Given the description of an element on the screen output the (x, y) to click on. 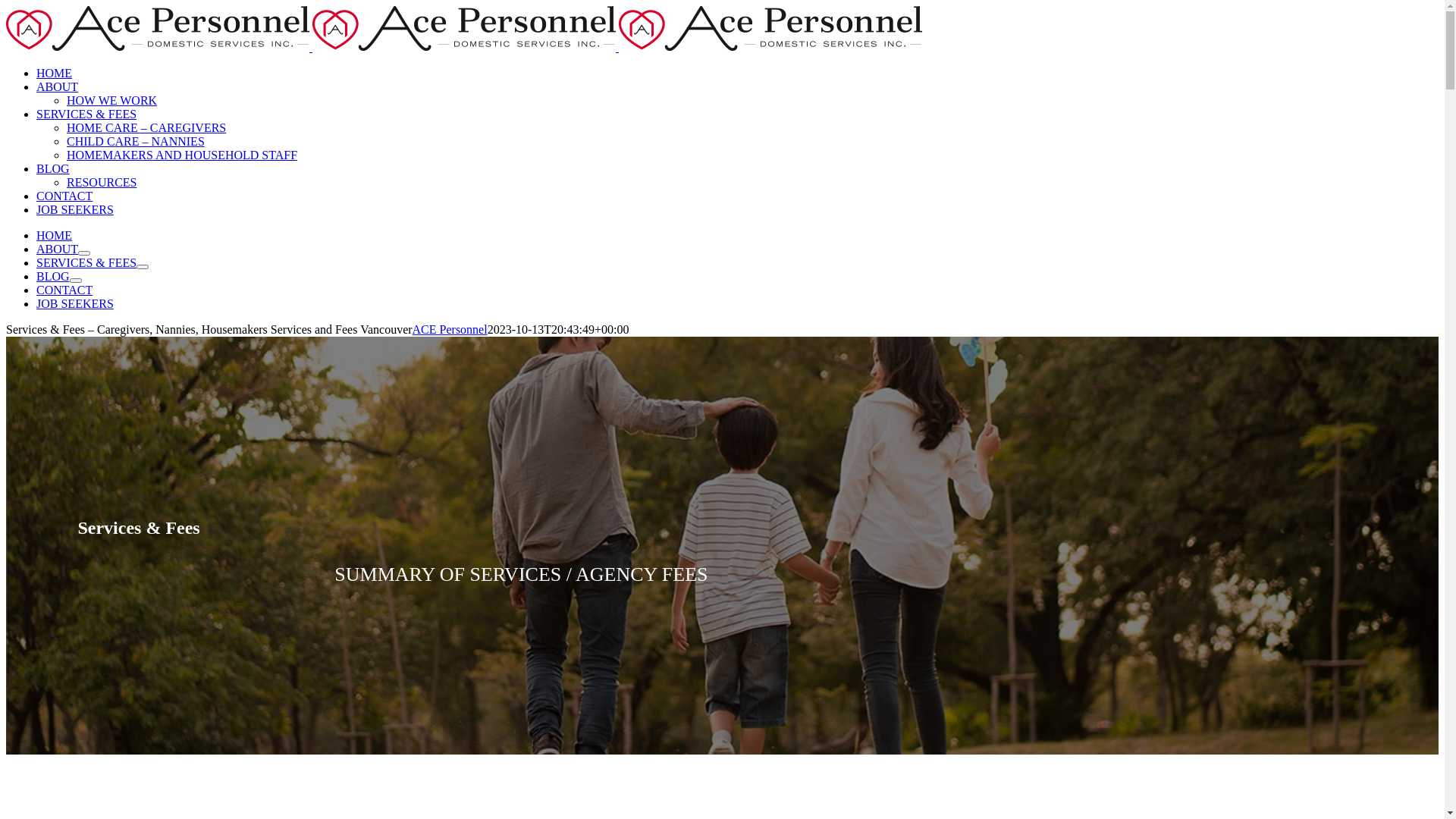
HOME Element type: text (54, 235)
CONTACT Element type: text (64, 195)
HOMEMAKERS AND HOUSEHOLD STAFF Element type: text (181, 154)
BLOG Element type: text (52, 168)
HOME Element type: text (54, 72)
JOB SEEKERS Element type: text (74, 209)
Skip to content Element type: text (5, 5)
HOW WE WORK Element type: text (111, 100)
ABOUT Element type: text (57, 86)
RESOURCES Element type: text (101, 181)
JOB SEEKERS Element type: text (74, 303)
BLOG Element type: text (52, 275)
SERVICES & FEES Element type: text (86, 262)
ABOUT Element type: text (57, 248)
CONTACT Element type: text (64, 289)
ACE Personnel Element type: text (449, 329)
SERVICES & FEES Element type: text (86, 113)
